Given the description of an element on the screen output the (x, y) to click on. 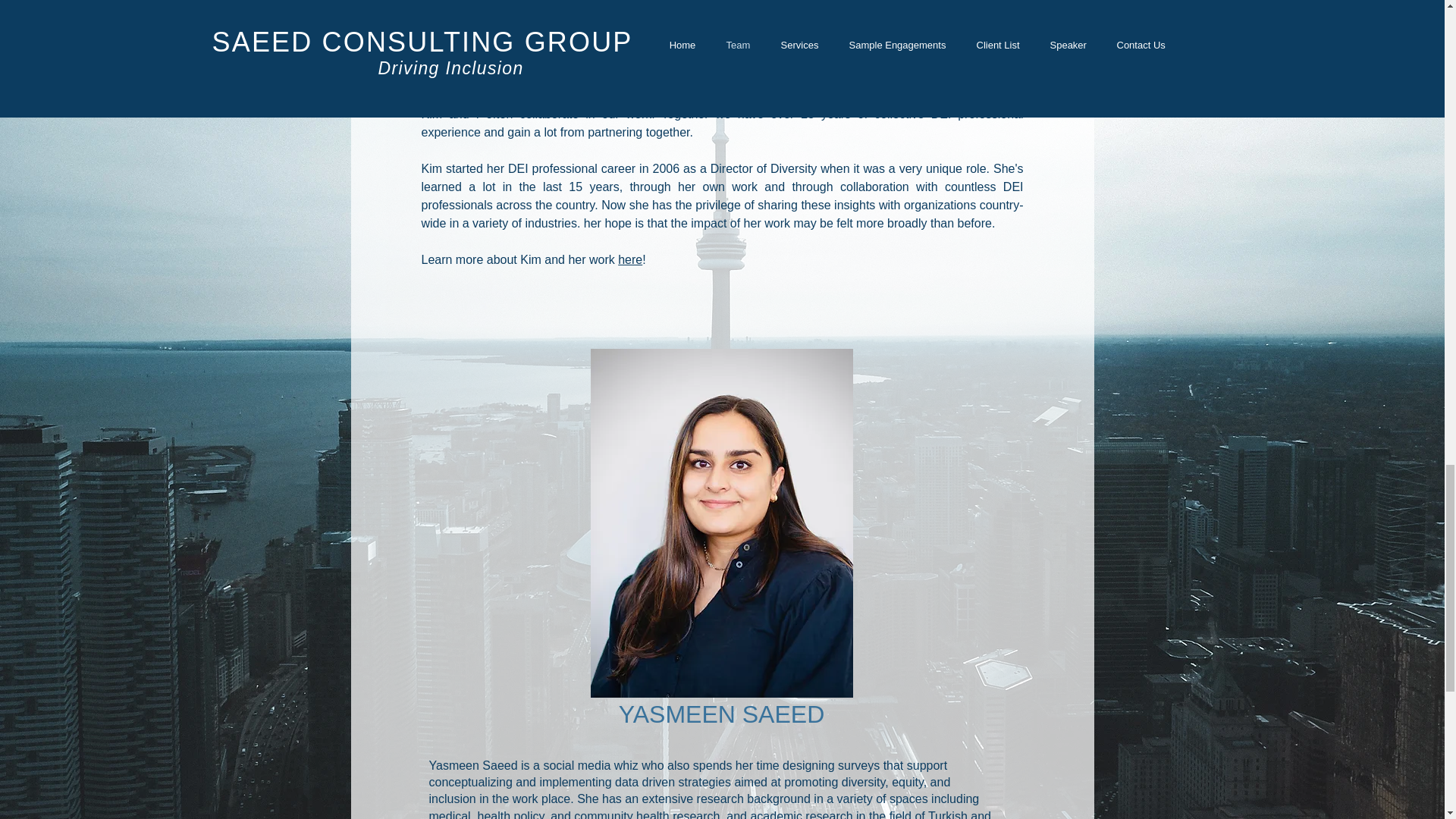
here (629, 259)
